Given the description of an element on the screen output the (x, y) to click on. 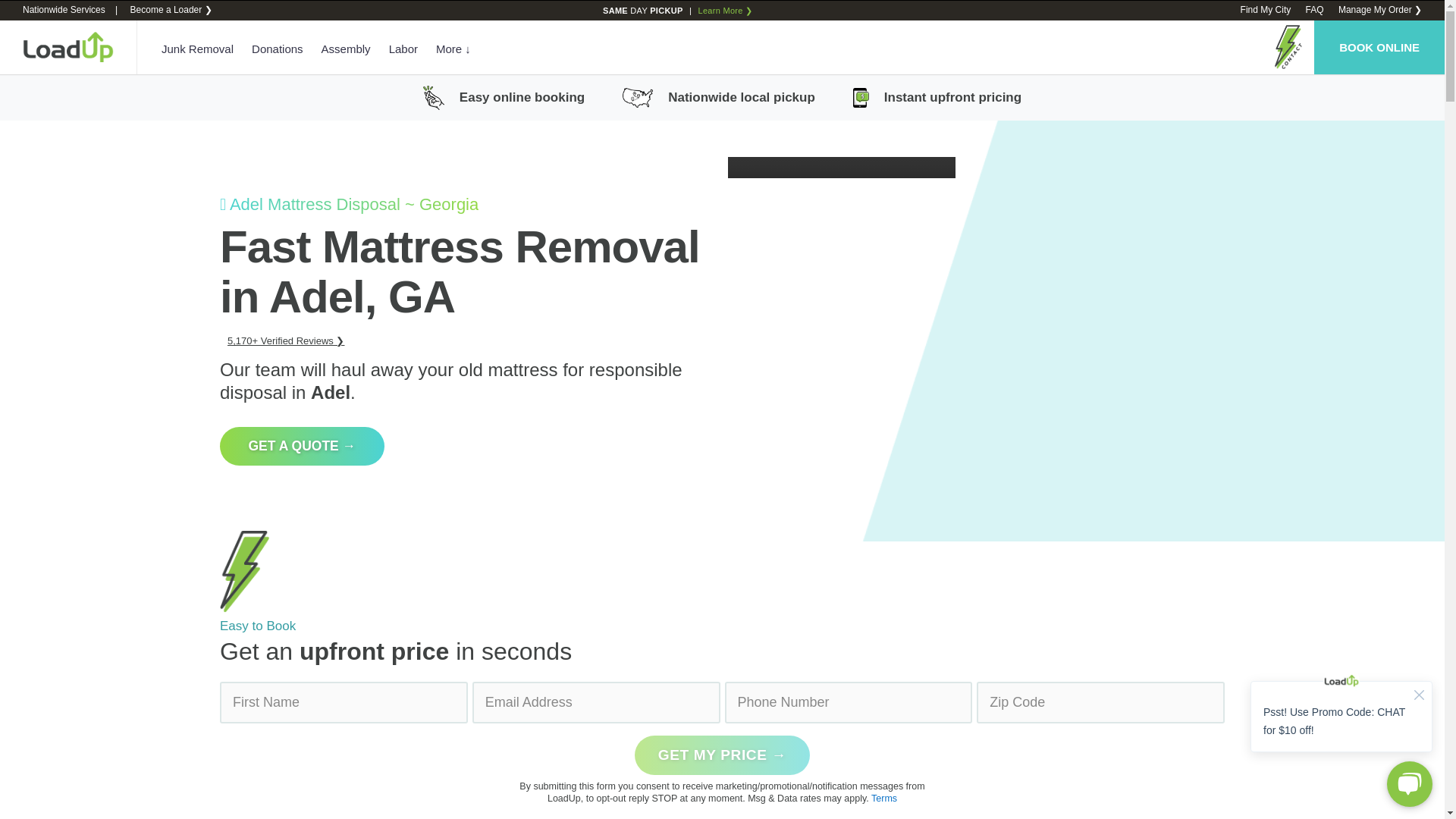
Knowledge Base (1313, 9)
Tracking My Order (1380, 9)
View LoadUp Customer Reviews (285, 340)
Become a Loader (170, 9)
Find My City (1265, 9)
